Given the description of an element on the screen output the (x, y) to click on. 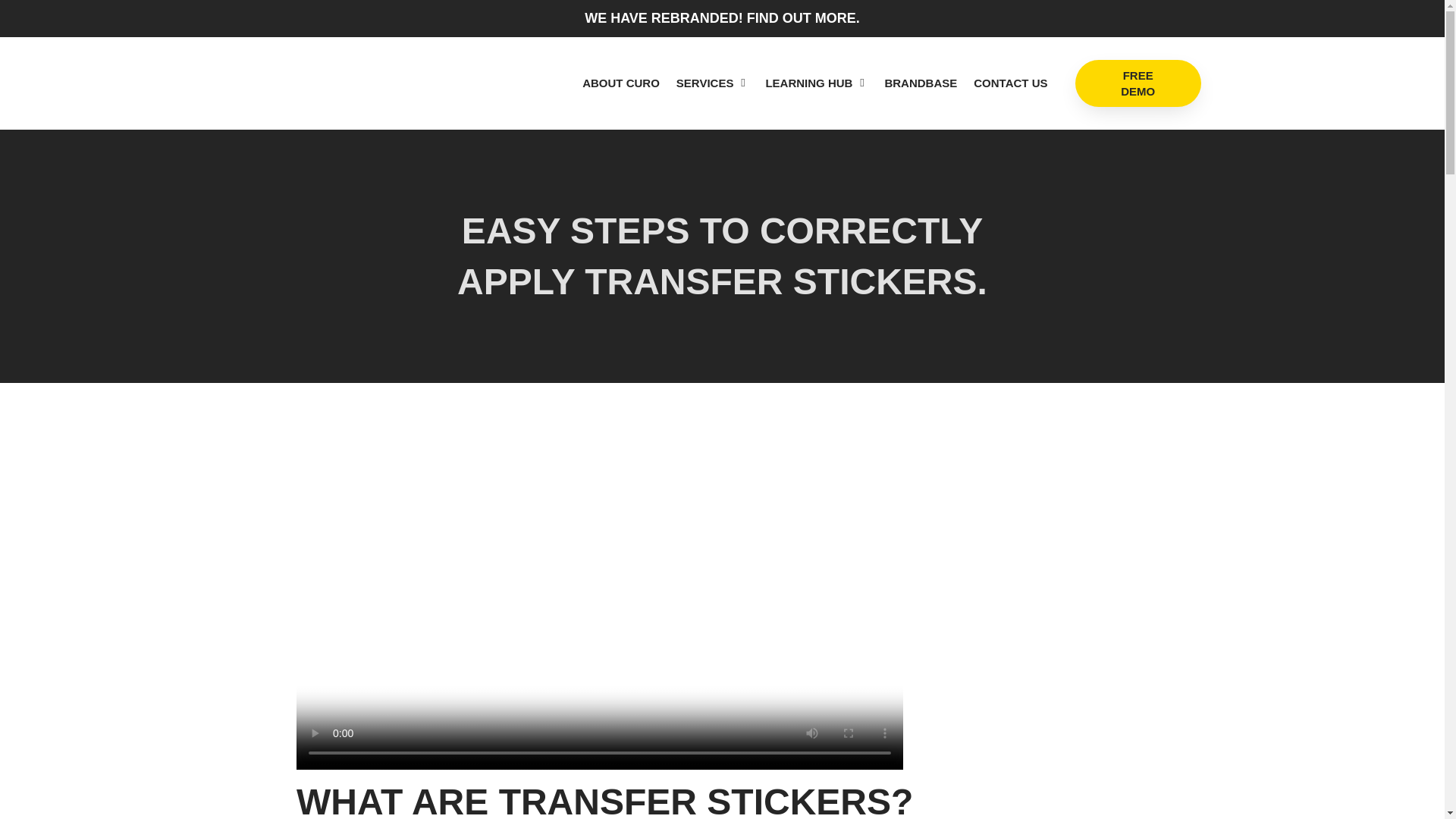
CONTACT US (1010, 82)
WE HAVE REBRANDED! FIND OUT MORE. (722, 17)
ABOUT CURO (620, 82)
FREE DEMO (1138, 83)
BRANDBASE (919, 82)
